Given the description of an element on the screen output the (x, y) to click on. 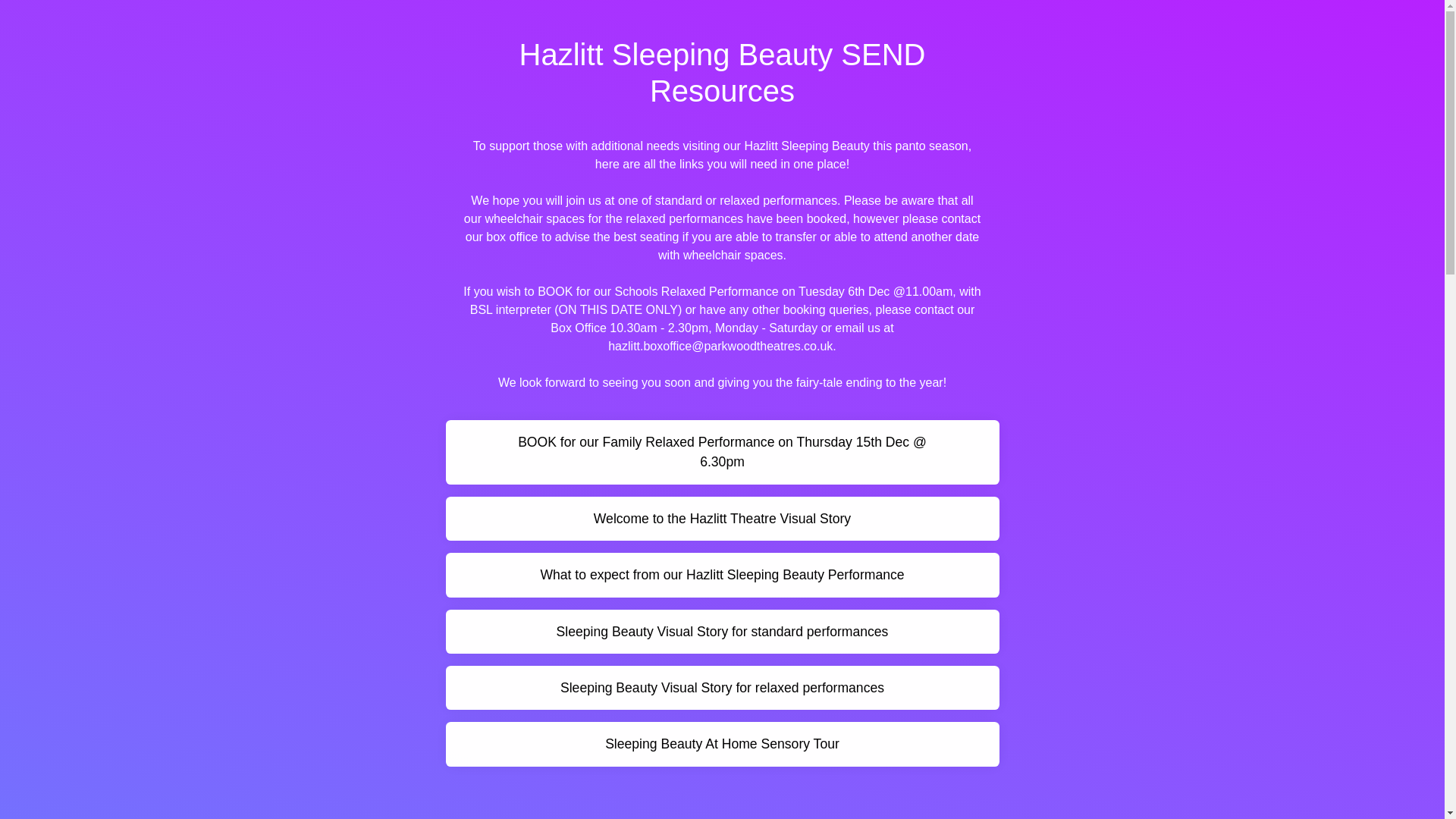
Sleeping Beauty Visual Story for relaxed performances (721, 687)
Welcome to the Hazlitt Theatre Visual Story (721, 518)
Sleeping Beauty At Home Sensory Tour (721, 743)
Sleeping Beauty Visual Story for standard performances (721, 631)
What to expect from our Hazlitt Sleeping Beauty Performance (721, 574)
